Given the description of an element on the screen output the (x, y) to click on. 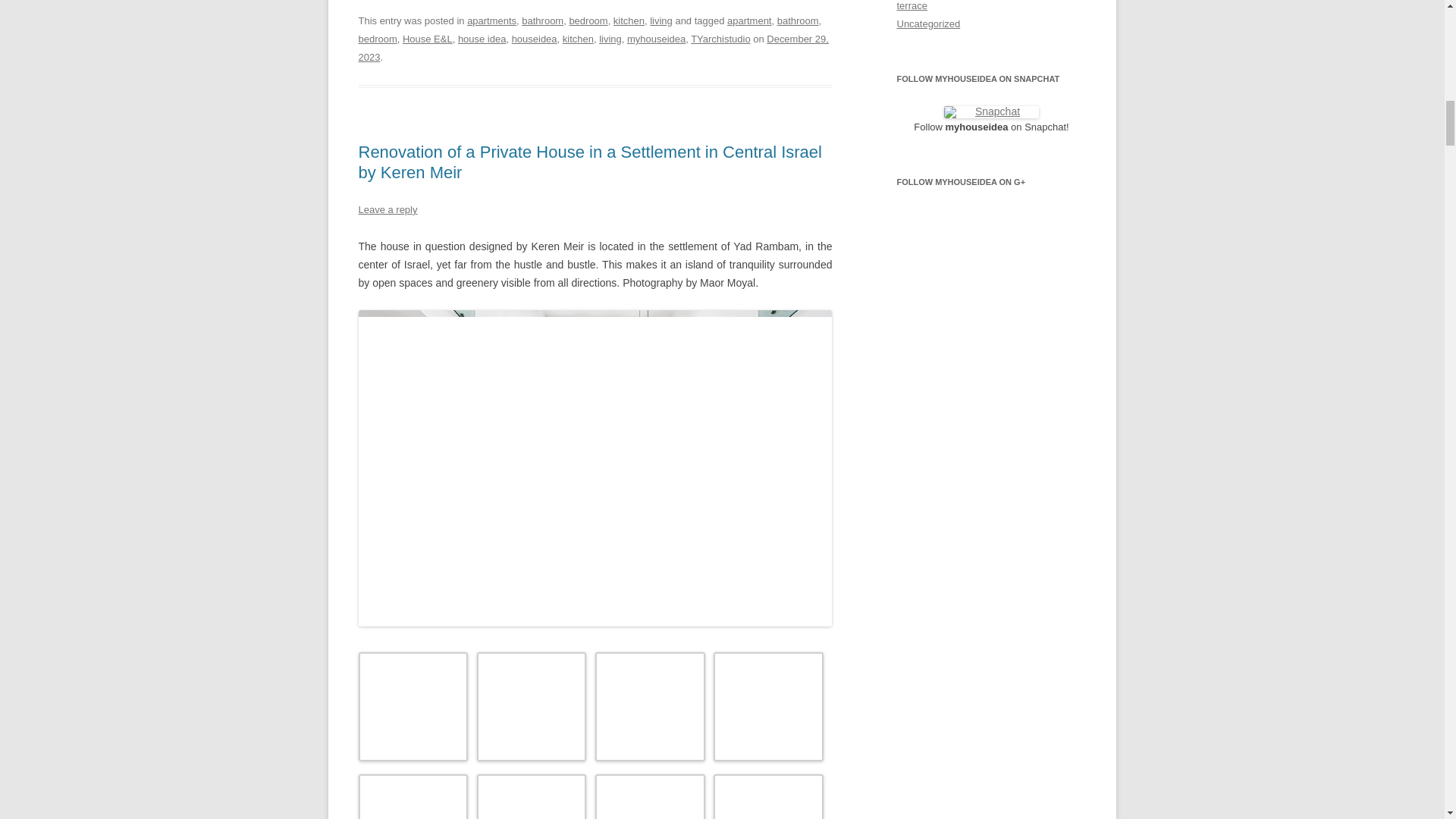
bedroom (588, 20)
6:00 am (593, 48)
living (660, 20)
bedroom (377, 39)
house idea (482, 39)
kitchen (628, 20)
bathroom (542, 20)
apartment (748, 20)
bathroom (797, 20)
apartments (491, 20)
